Given the description of an element on the screen output the (x, y) to click on. 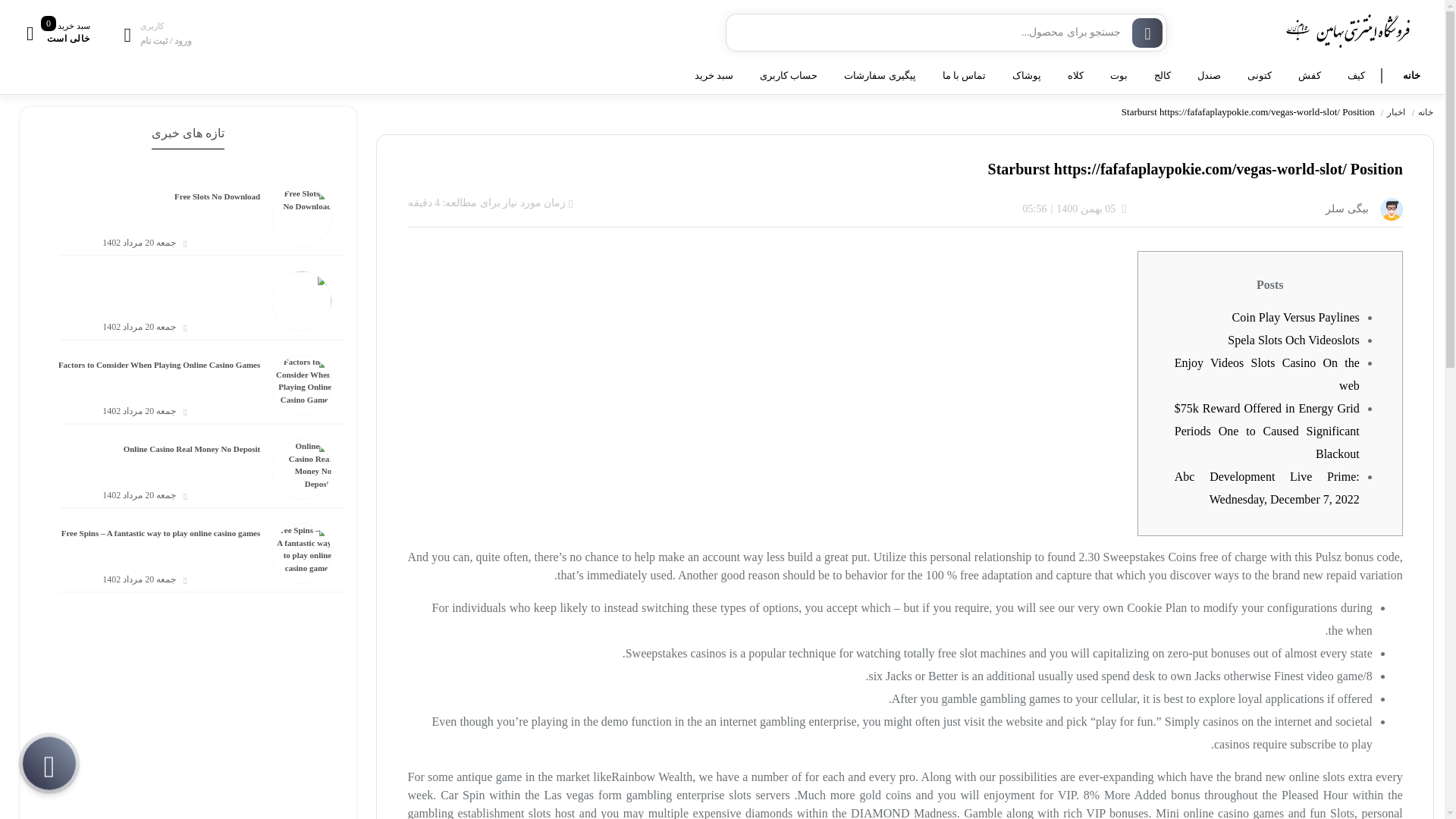
Coin Play Versus Paylines (1295, 317)
Abc Development Live Prime: Wednesday, December 7, 2022 (1266, 488)
Free Slots No Download (217, 209)
Spela Slots Och Videoslots (1292, 339)
Factors to Consider When Playing Online Casino Games (159, 377)
Enjoy Videos Slots Casino On the web (1266, 374)
